Given the description of an element on the screen output the (x, y) to click on. 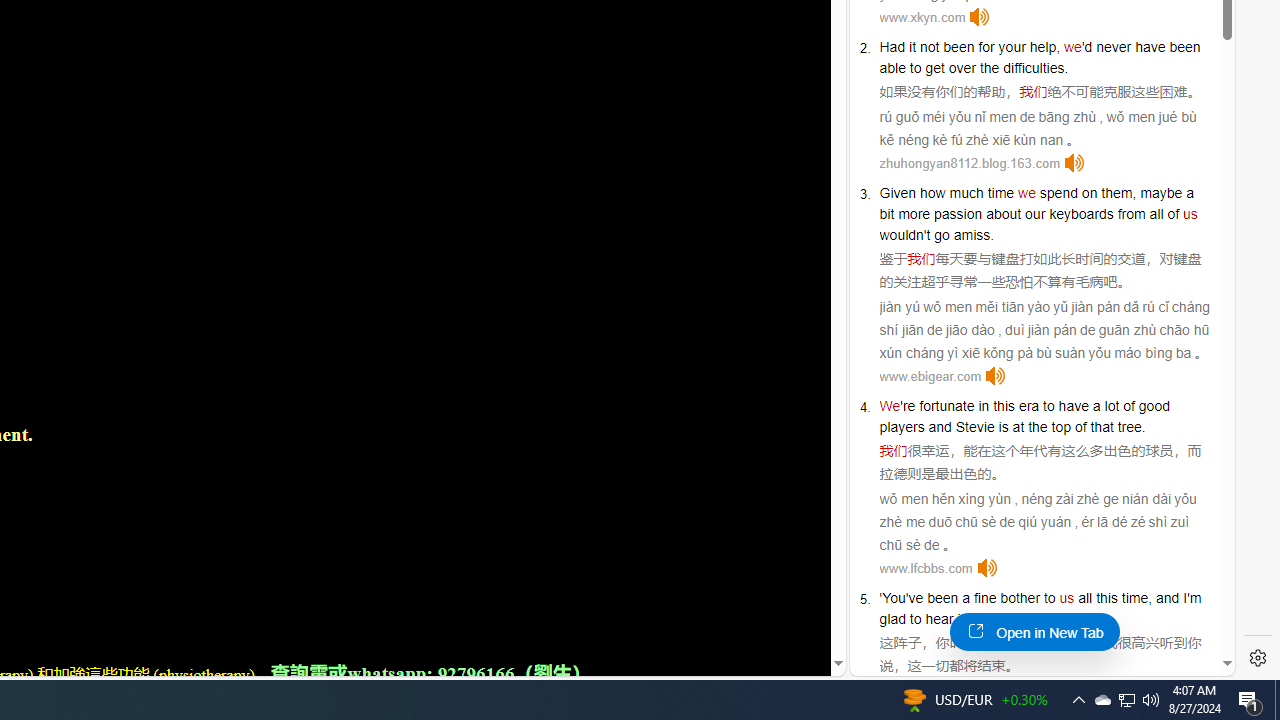
You (893, 597)
your (1012, 46)
We (890, 405)
I (1184, 597)
keyboards (1081, 213)
not (929, 46)
